Given the description of an element on the screen output the (x, y) to click on. 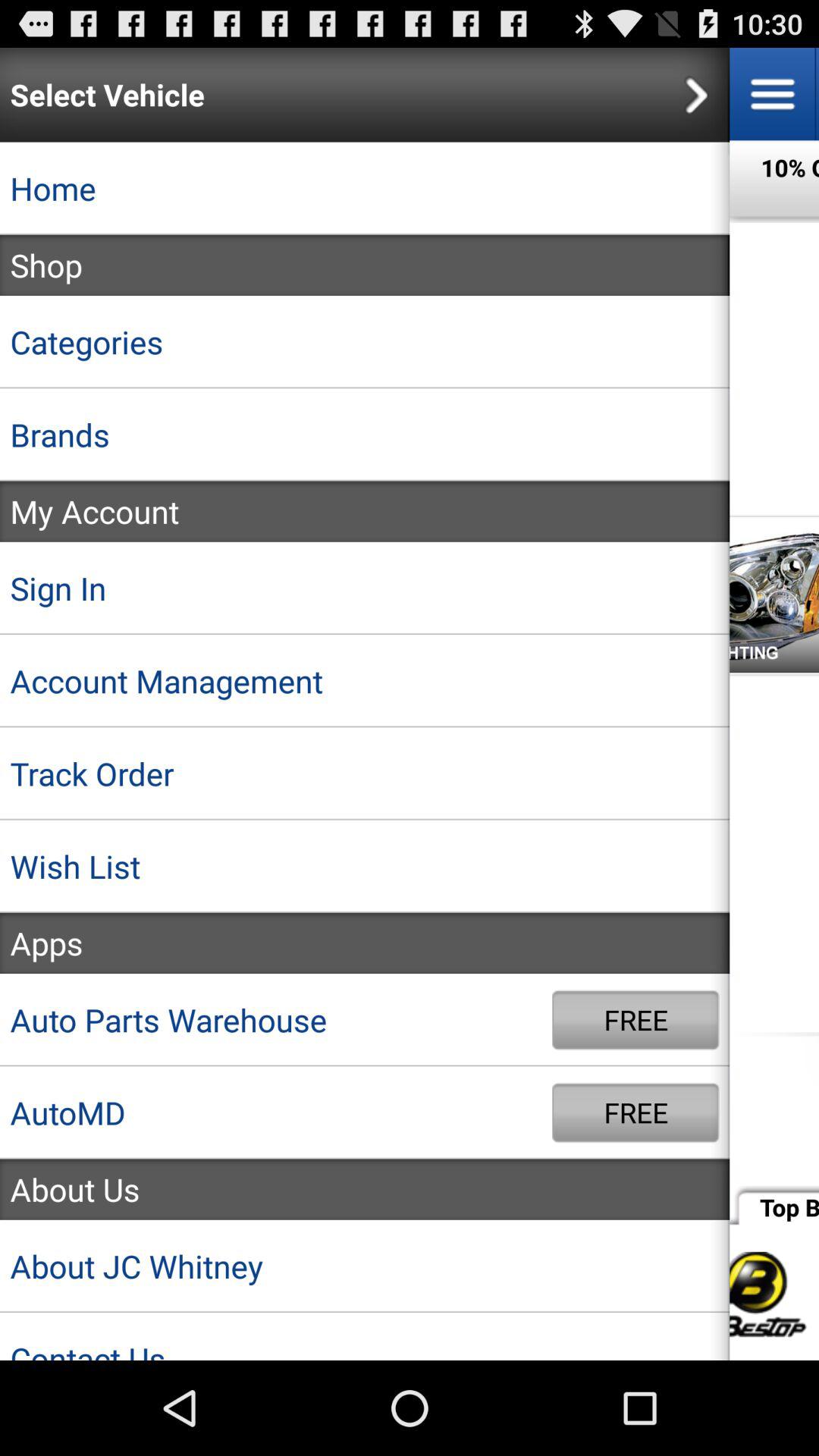
turn on the icon above the shop item (364, 188)
